Given the description of an element on the screen output the (x, y) to click on. 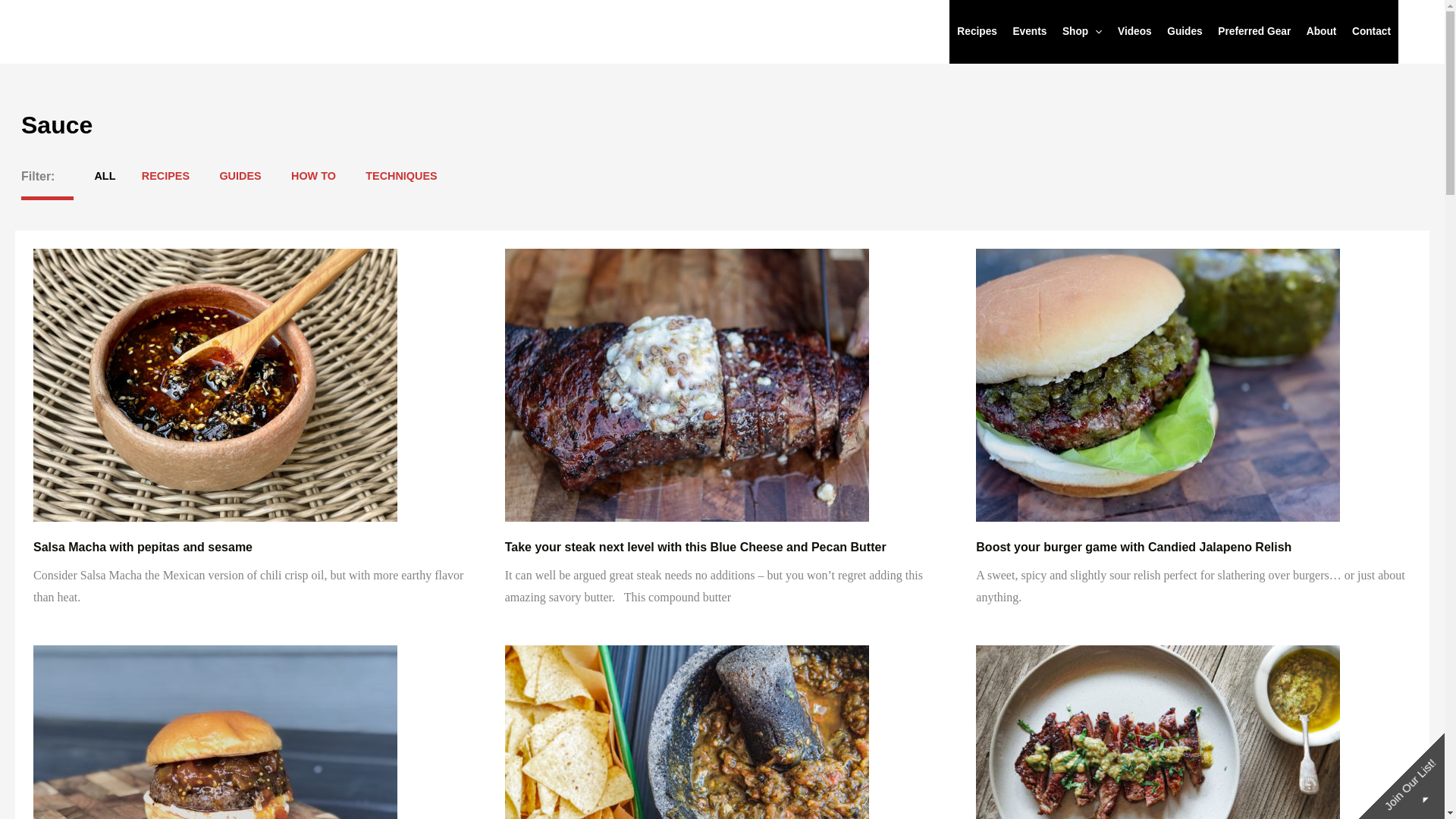
Contact (1371, 31)
Boost your burger game with Candied Jalapeno Relish (1133, 546)
Events (1029, 31)
Shop (1081, 31)
Recipes (976, 31)
Videos (1133, 31)
About (1320, 31)
Guides (1183, 31)
Preferred Gear (1253, 31)
Salsa Macha with pepitas and sesame (142, 546)
